Given the description of an element on the screen output the (x, y) to click on. 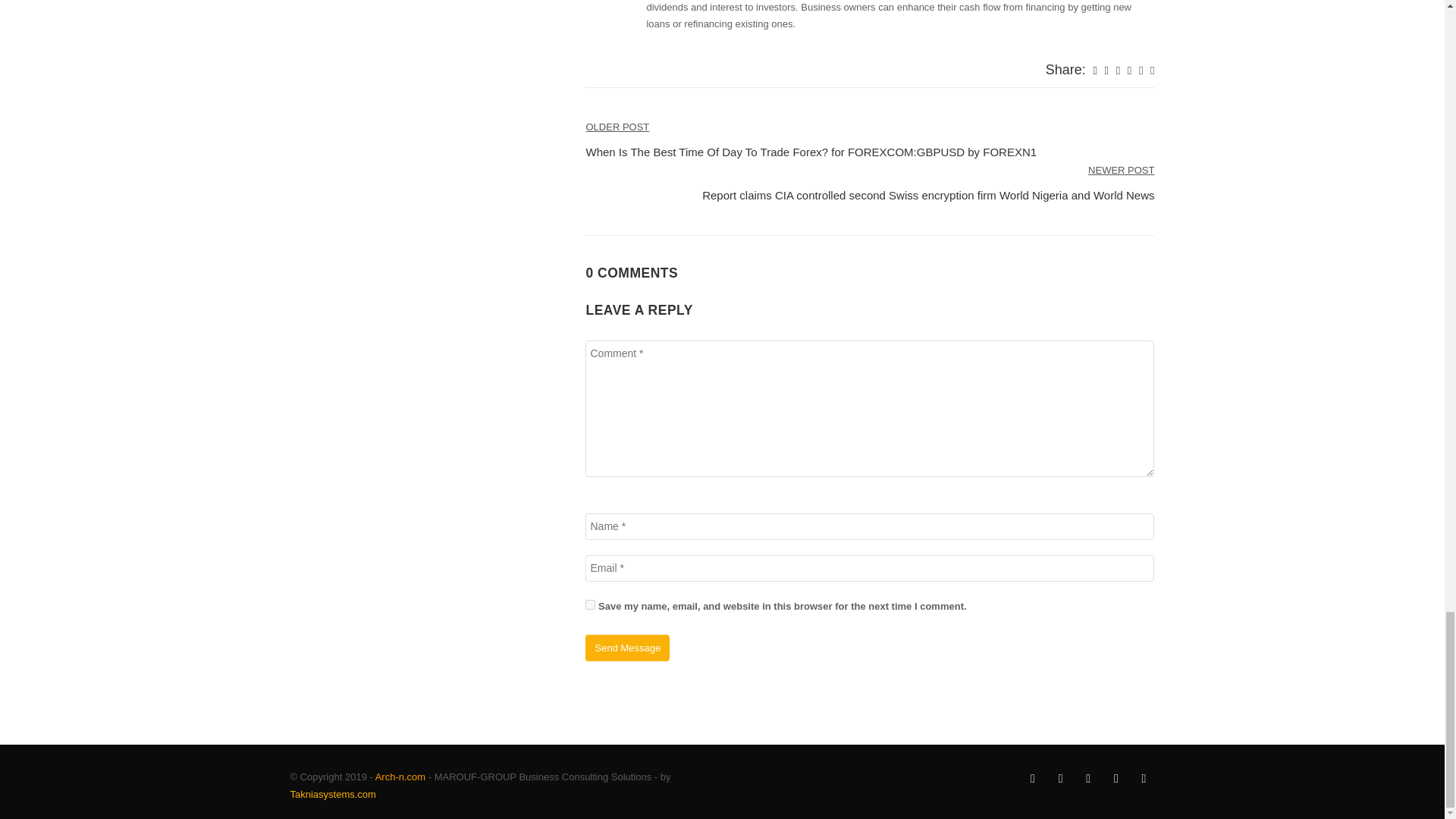
Send Message (627, 647)
Takniasystems.com (332, 794)
Arch-n.com (400, 776)
Send Message (627, 647)
yes (590, 604)
